Given the description of an element on the screen output the (x, y) to click on. 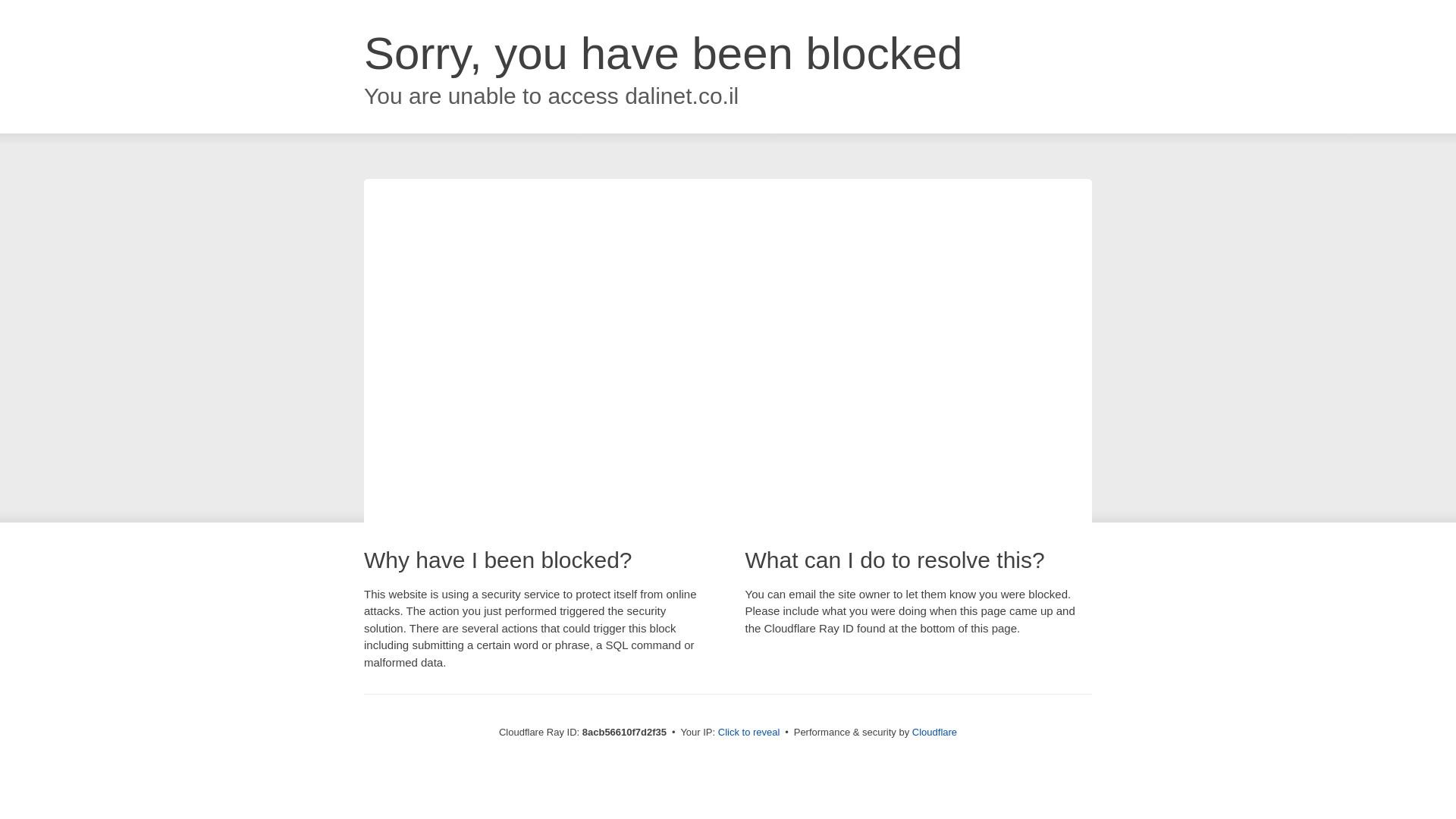
Cloudflare (934, 731)
Click to reveal (748, 732)
